Given the description of an element on the screen output the (x, y) to click on. 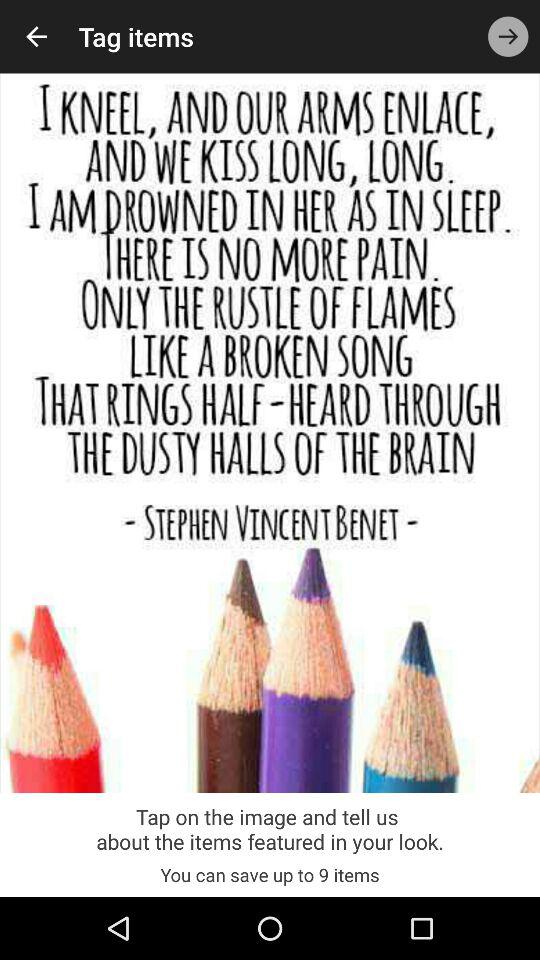
click the item next to the tag items item (36, 36)
